Given the description of an element on the screen output the (x, y) to click on. 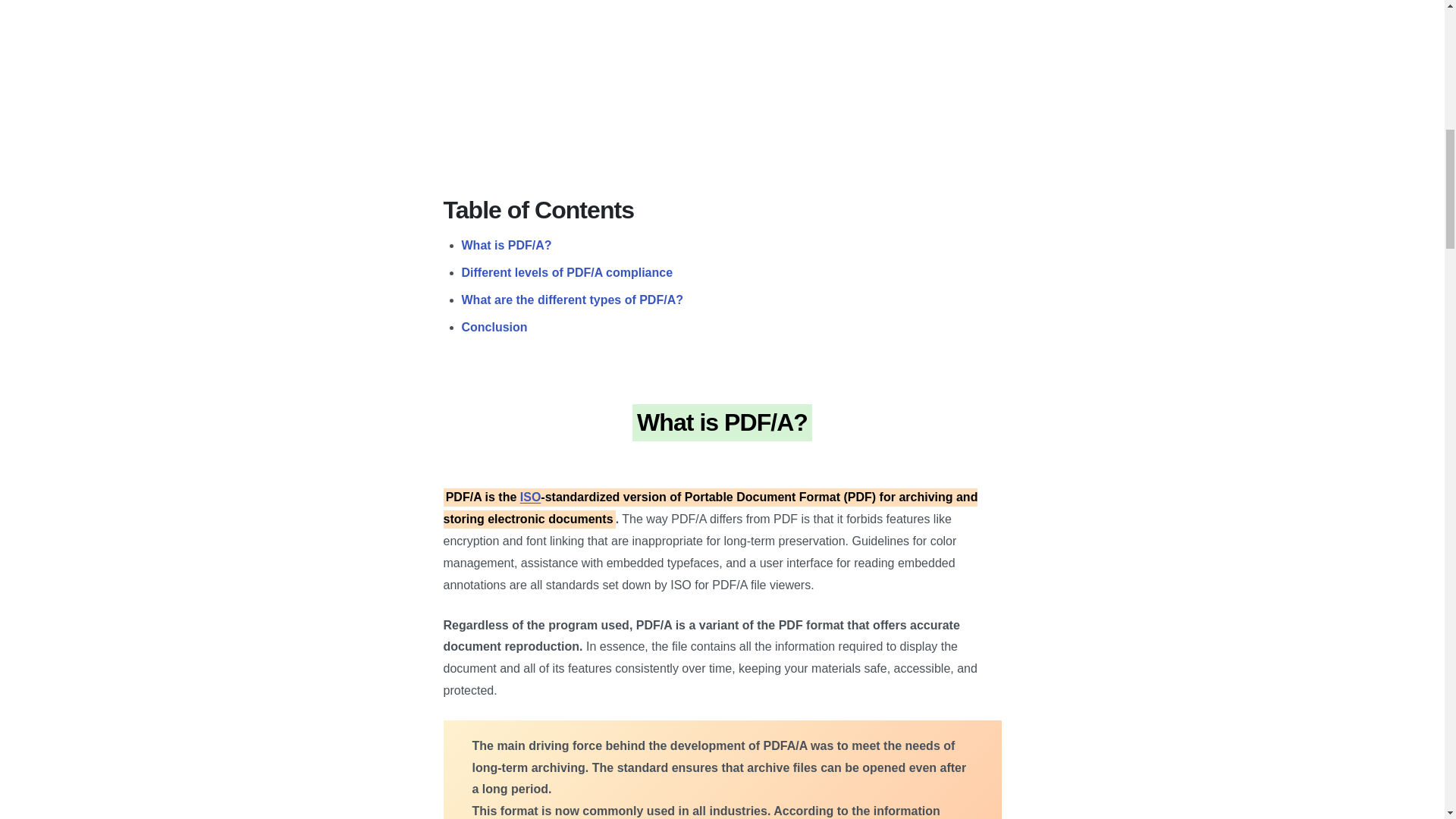
Conclusion (494, 327)
ISO (530, 497)
